Given the description of an element on the screen output the (x, y) to click on. 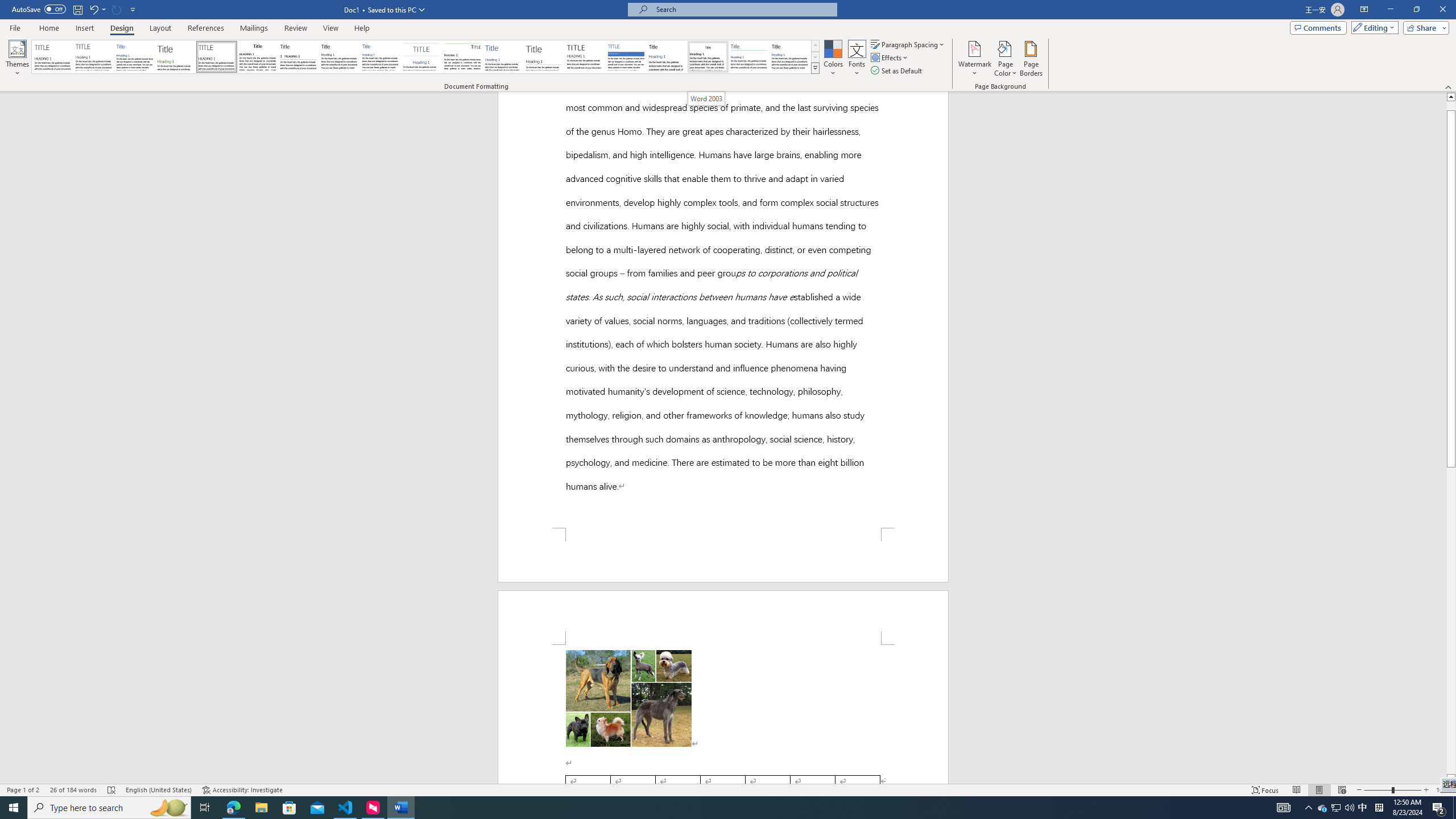
Morphological variation in six dogs (628, 468)
Black & White (Numbered) (298, 56)
Zoom 100% (1443, 790)
AutomationID: QuickStylesSets (425, 56)
Minimalist (584, 56)
Fonts (856, 58)
Word 2003 (707, 56)
Word 2013 (790, 56)
